Given the description of an element on the screen output the (x, y) to click on. 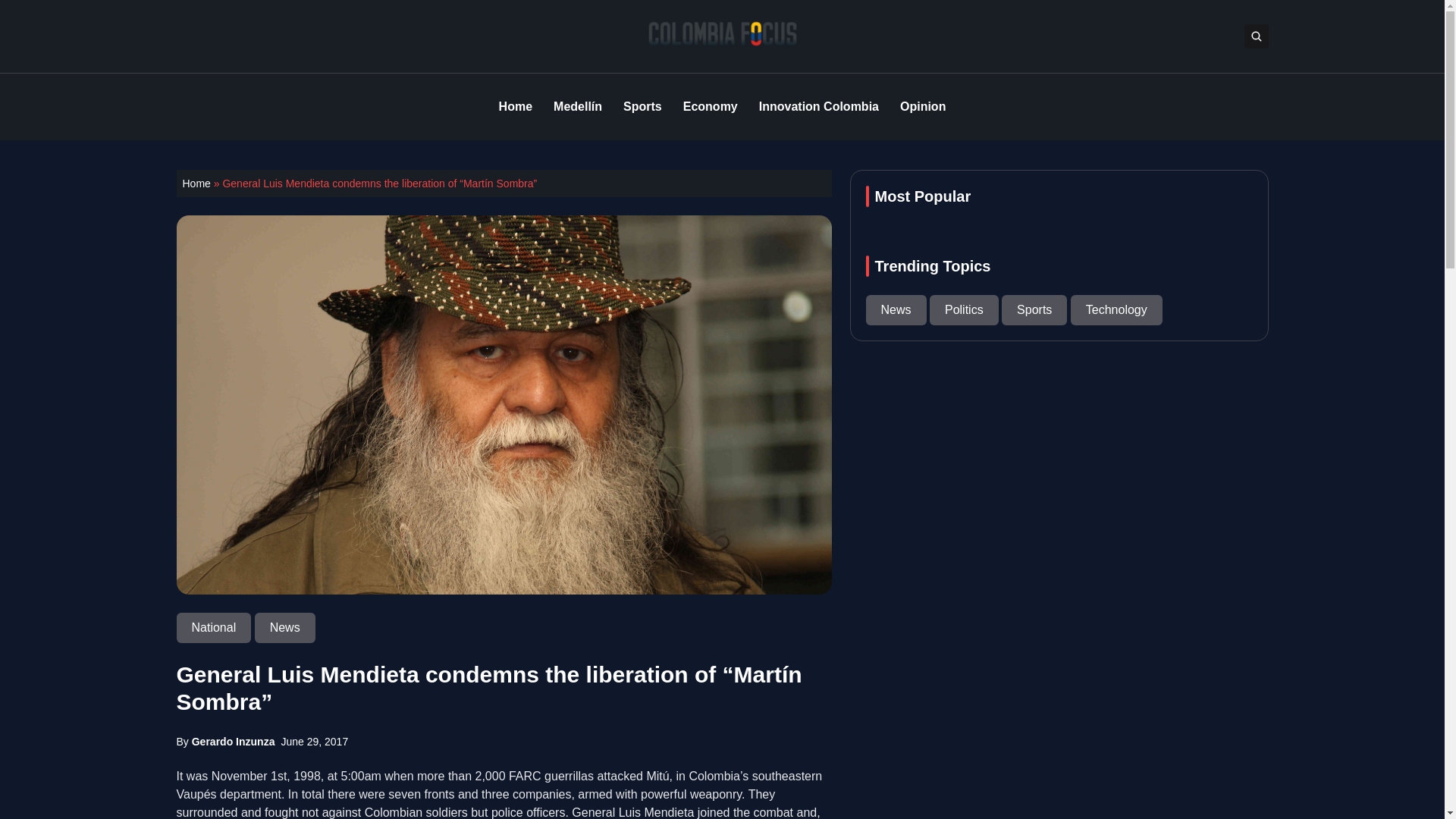
Home (515, 106)
Innovation Colombia (818, 106)
Home (195, 183)
Opinion (921, 106)
National (214, 626)
Economy (710, 106)
News (284, 626)
Sports (642, 106)
Gerardo Inzunza (233, 741)
